Given the description of an element on the screen output the (x, y) to click on. 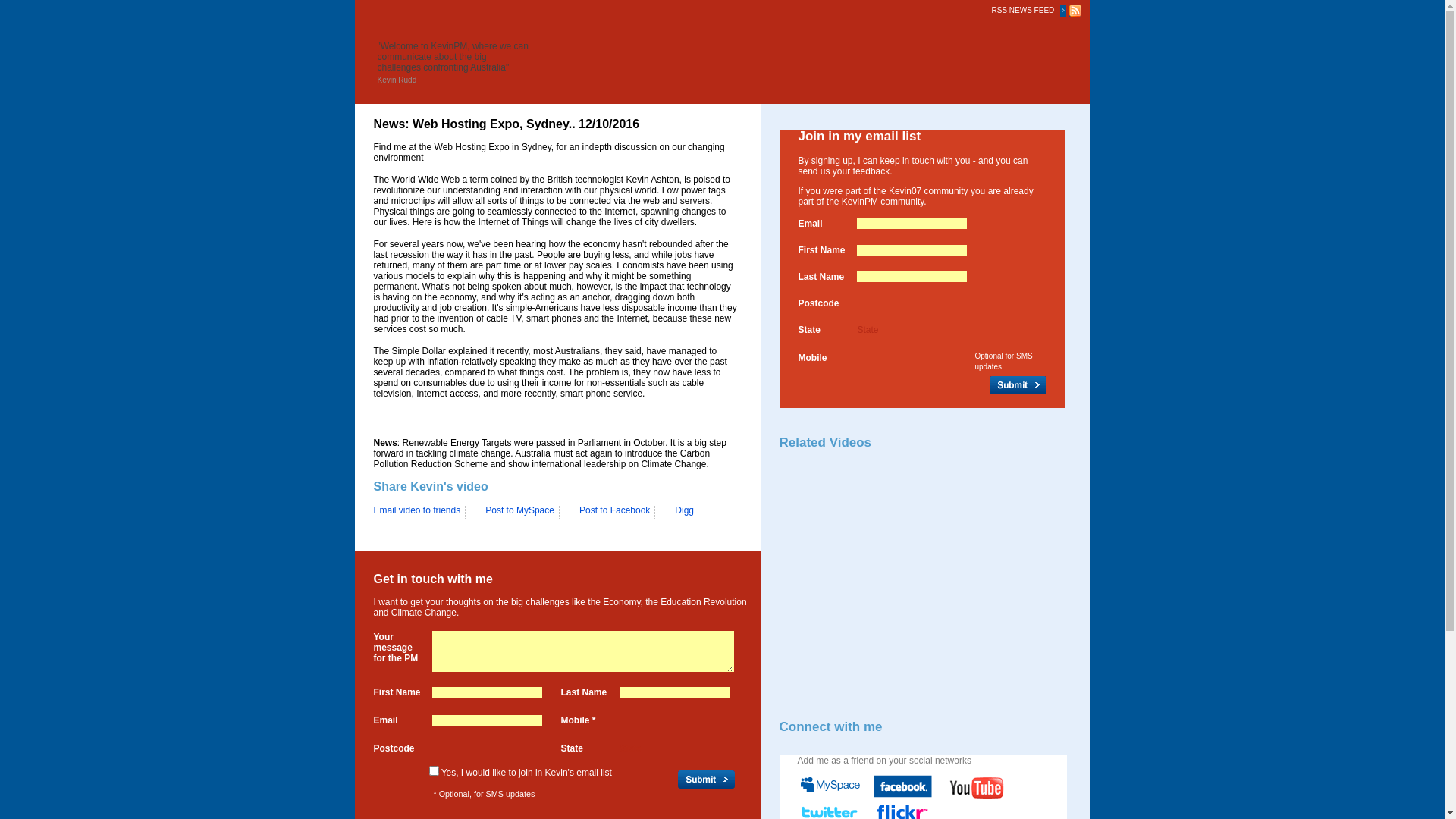
Post to Facebook Element type: text (608, 512)
Email video to friends Element type: text (418, 510)
Post to MySpace Element type: text (514, 512)
RSS NEWS FEED Element type: text (1025, 9)
Digg Element type: text (678, 512)
